Given the description of an element on the screen output the (x, y) to click on. 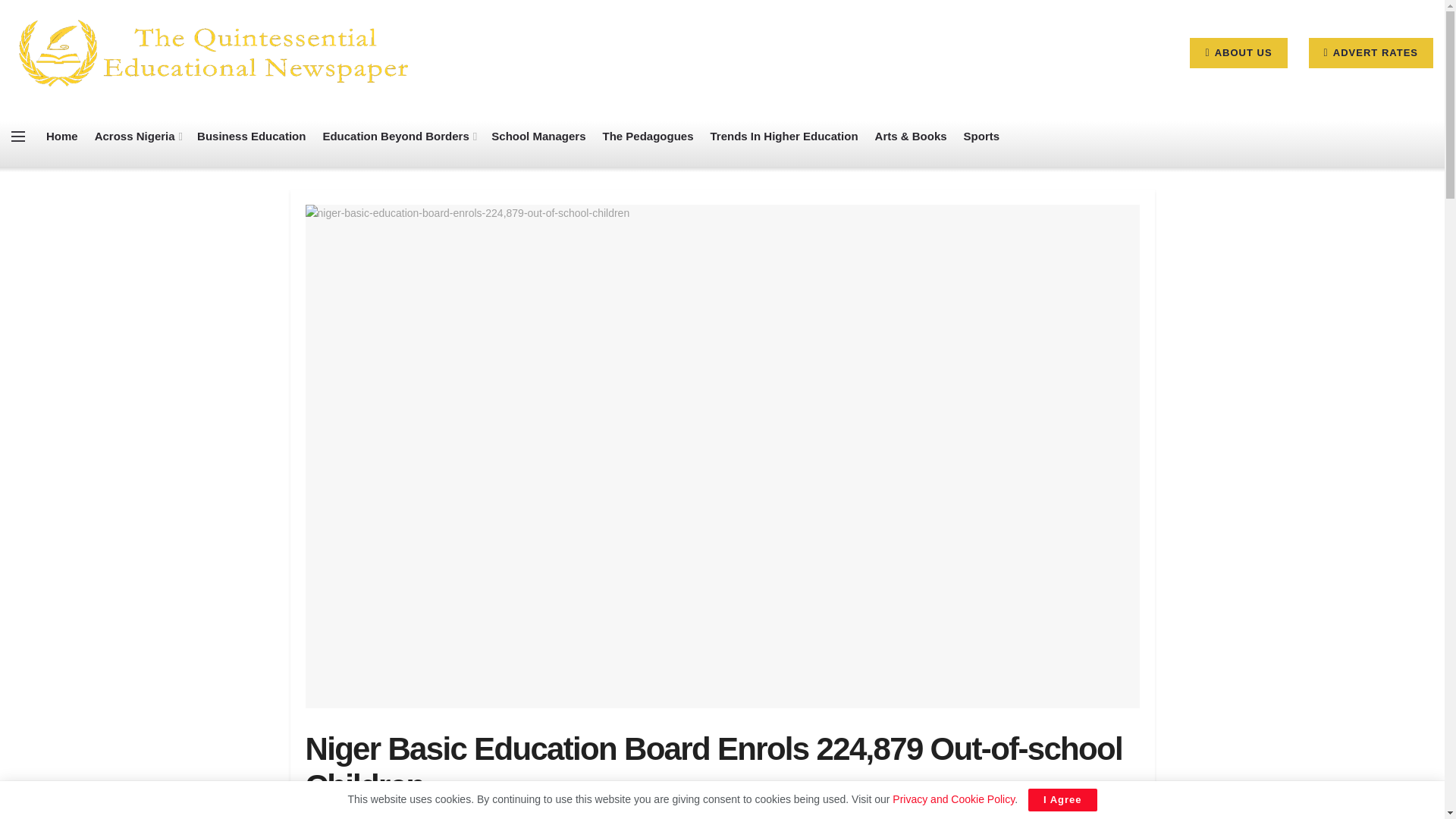
Business Education (250, 136)
Education Beyond Borders (397, 136)
Sports (981, 136)
School Managers (538, 136)
ADVERT RATES (1370, 52)
ABOUT US (1238, 52)
Home (62, 136)
The Pedagogues (647, 136)
Trends In Higher Education (784, 136)
Across Nigeria (137, 136)
